Given the description of an element on the screen output the (x, y) to click on. 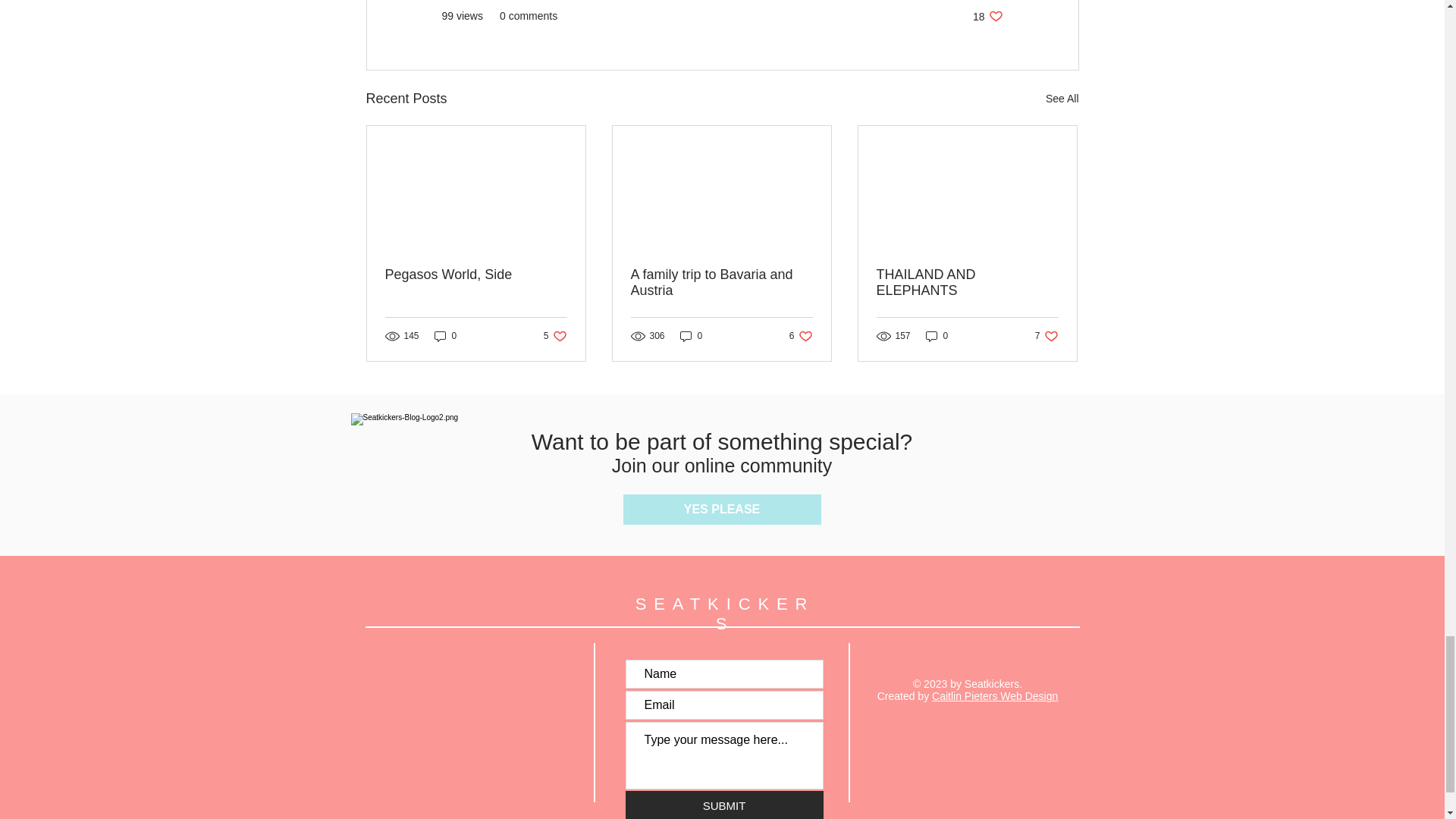
THAILAND AND ELEPHANTS (967, 282)
0 (445, 336)
YES PLEASE (987, 16)
A family trip to Bavaria and Austria (722, 509)
0 (721, 282)
See All (800, 336)
Want to be part of something special? (691, 336)
